Given the description of an element on the screen output the (x, y) to click on. 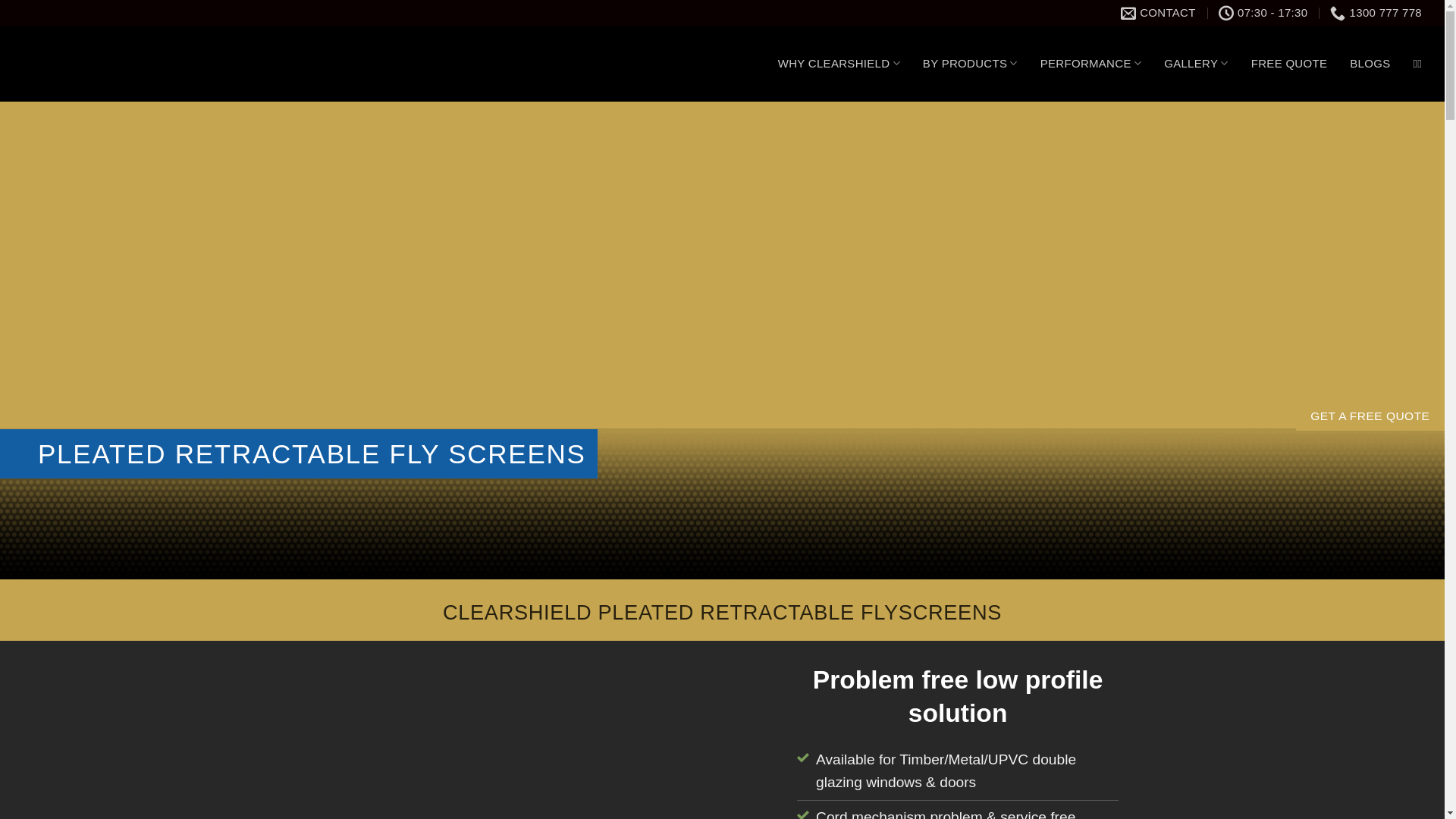
GALLERY Element type: text (1196, 62)
GET A FREE QUOTE Element type: text (1369, 415)
07:30 - 17:30 Element type: text (1263, 12)
1300 777 778 Element type: text (1375, 12)
Clearshield Victoria - Clearshield Stainless Steel Security Element type: hover (161, 63)
CONTACT Element type: text (1157, 12)
BY PRODUCTS Element type: text (969, 62)
PERFORMANCE Element type: text (1090, 62)
FREE QUOTE Element type: text (1289, 63)
BLOGS Element type: text (1369, 63)
WHY CLEARSHIELD Element type: text (839, 62)
